Given the description of an element on the screen output the (x, y) to click on. 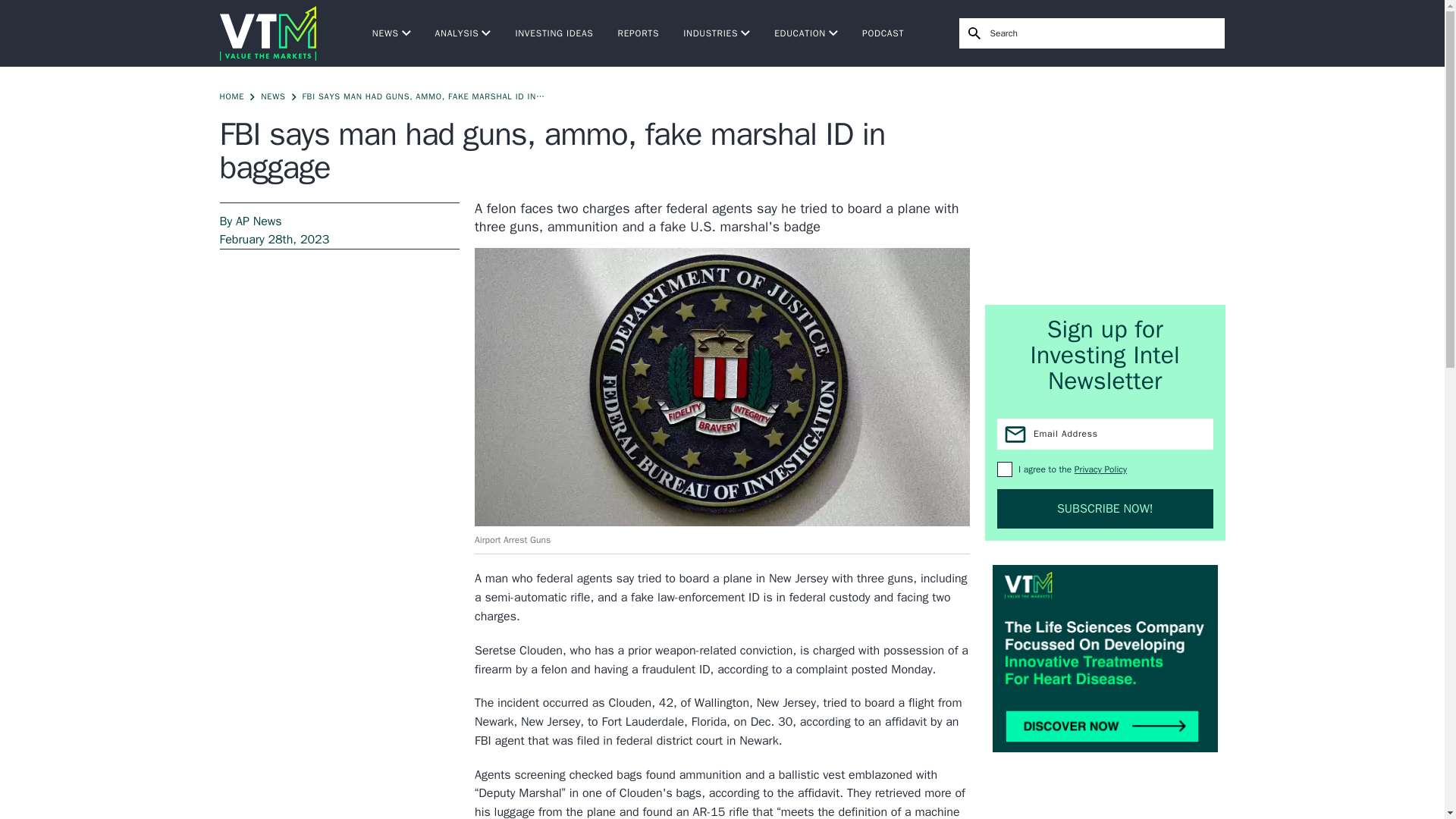
PODCAST (882, 33)
NEWS (391, 33)
INDUSTRIES (715, 33)
Advertisement (1105, 185)
EDUCATION (806, 33)
ANALYSIS (463, 33)
Yes (1004, 468)
REPORTS (638, 33)
INVESTING IDEAS (553, 33)
